Given the description of an element on the screen output the (x, y) to click on. 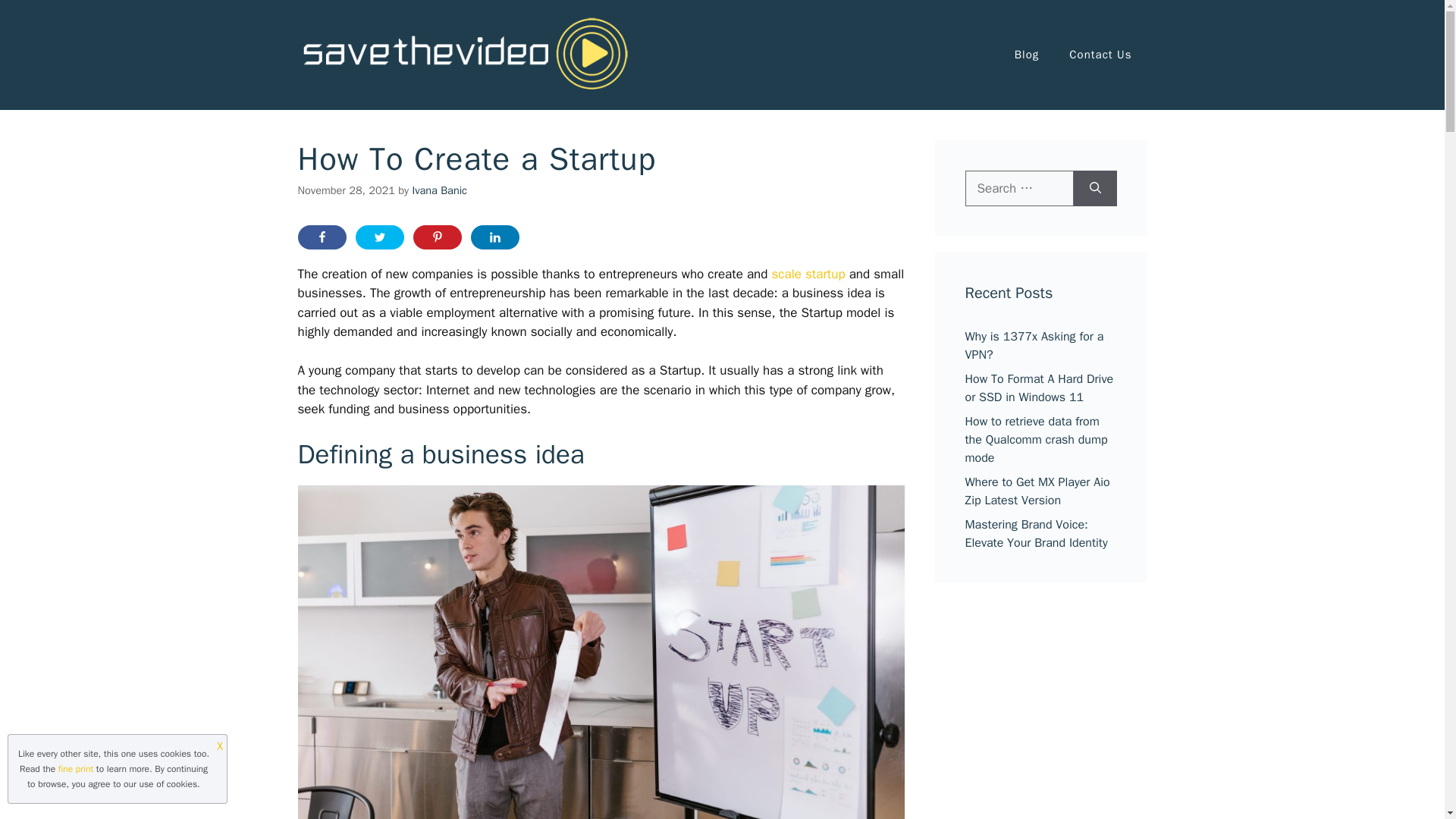
scale startup (808, 273)
Why is 1377x Asking for a VPN? (1033, 345)
View all posts by Ivana Banic (439, 190)
Blog (1026, 53)
Mastering Brand Voice: Elevate Your Brand Identity (1034, 533)
How to retrieve data from the Qualcomm crash dump mode (1034, 440)
Share on Facebook (321, 237)
Share on LinkedIn (494, 237)
Where to Get MX Player Aio Zip Latest Version (1036, 491)
How To Format A Hard Drive or SSD in Windows 11 (1038, 387)
